Given the description of an element on the screen output the (x, y) to click on. 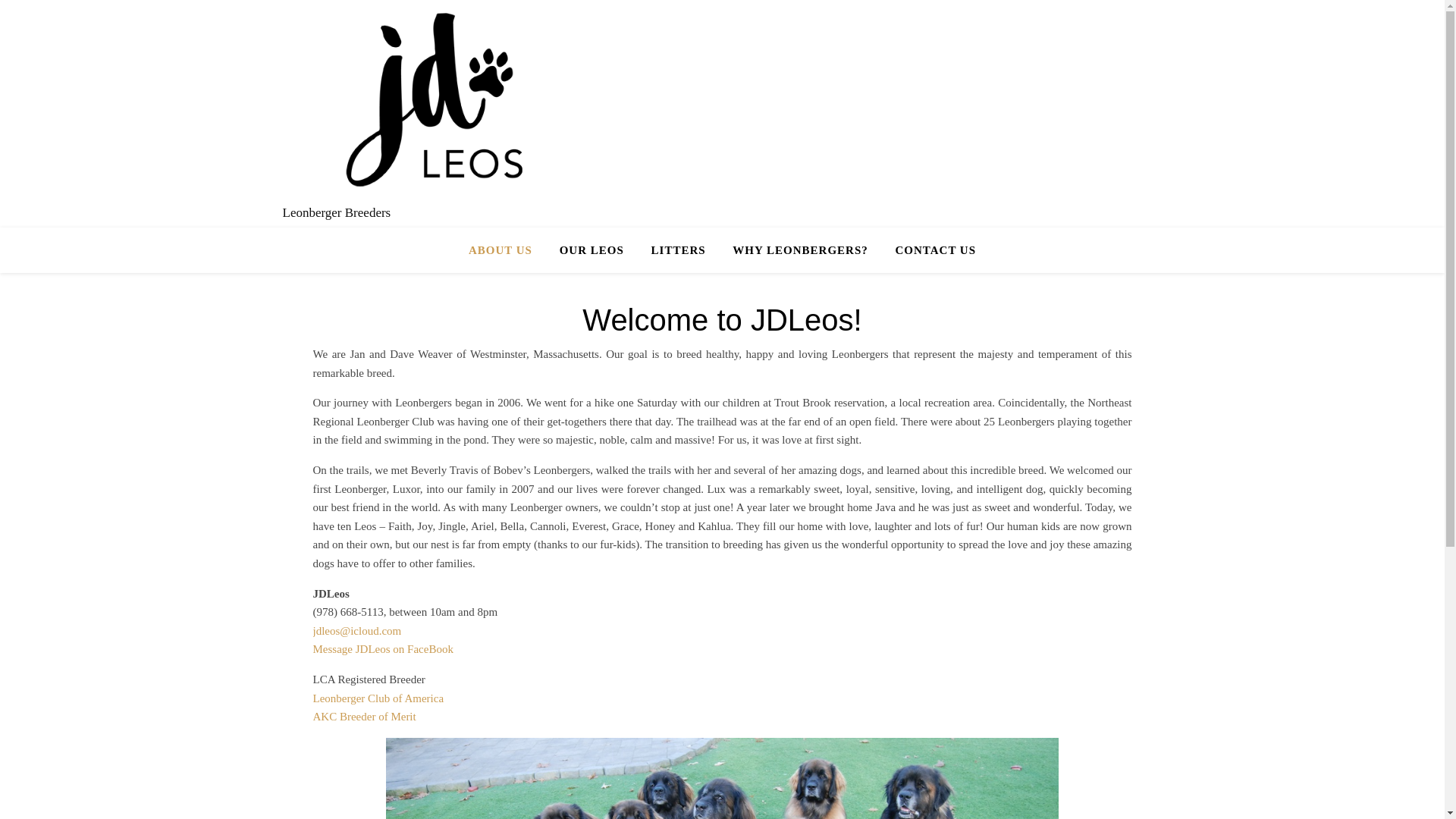
LITTERS (678, 249)
Christmas 2023 cropped for website (721, 778)
Leonberger Club of America (378, 697)
Message JDLeos on FaceBook (382, 648)
AKC Breeder of Merit (363, 716)
ABOUT US (506, 249)
CONTACT US (928, 249)
WHY LEONBERGERS? (799, 249)
OUR LEOS (591, 249)
JDLeos (433, 99)
